Given the description of an element on the screen output the (x, y) to click on. 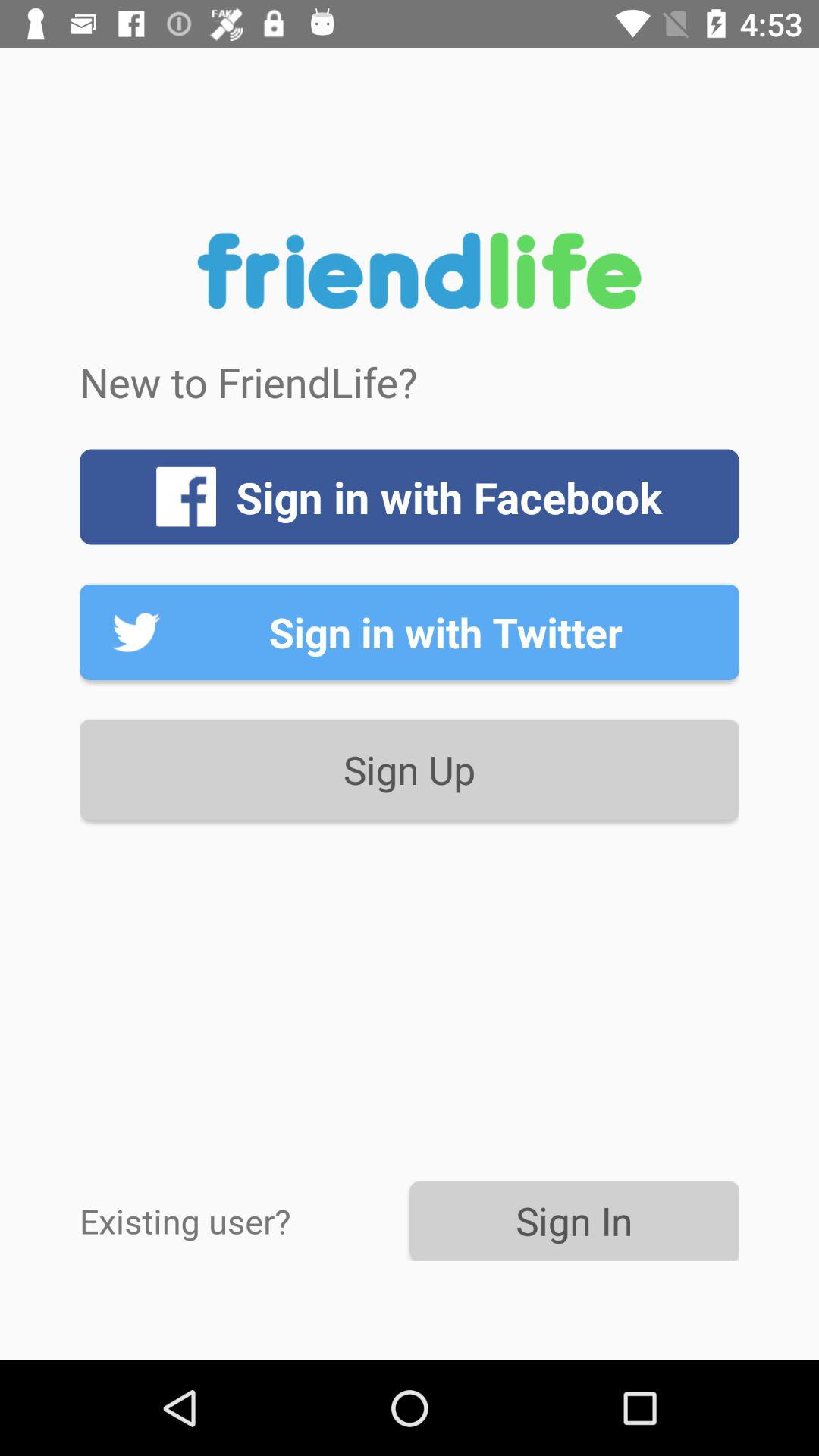
turn off the item to the left of sign in item (244, 1220)
